Given the description of an element on the screen output the (x, y) to click on. 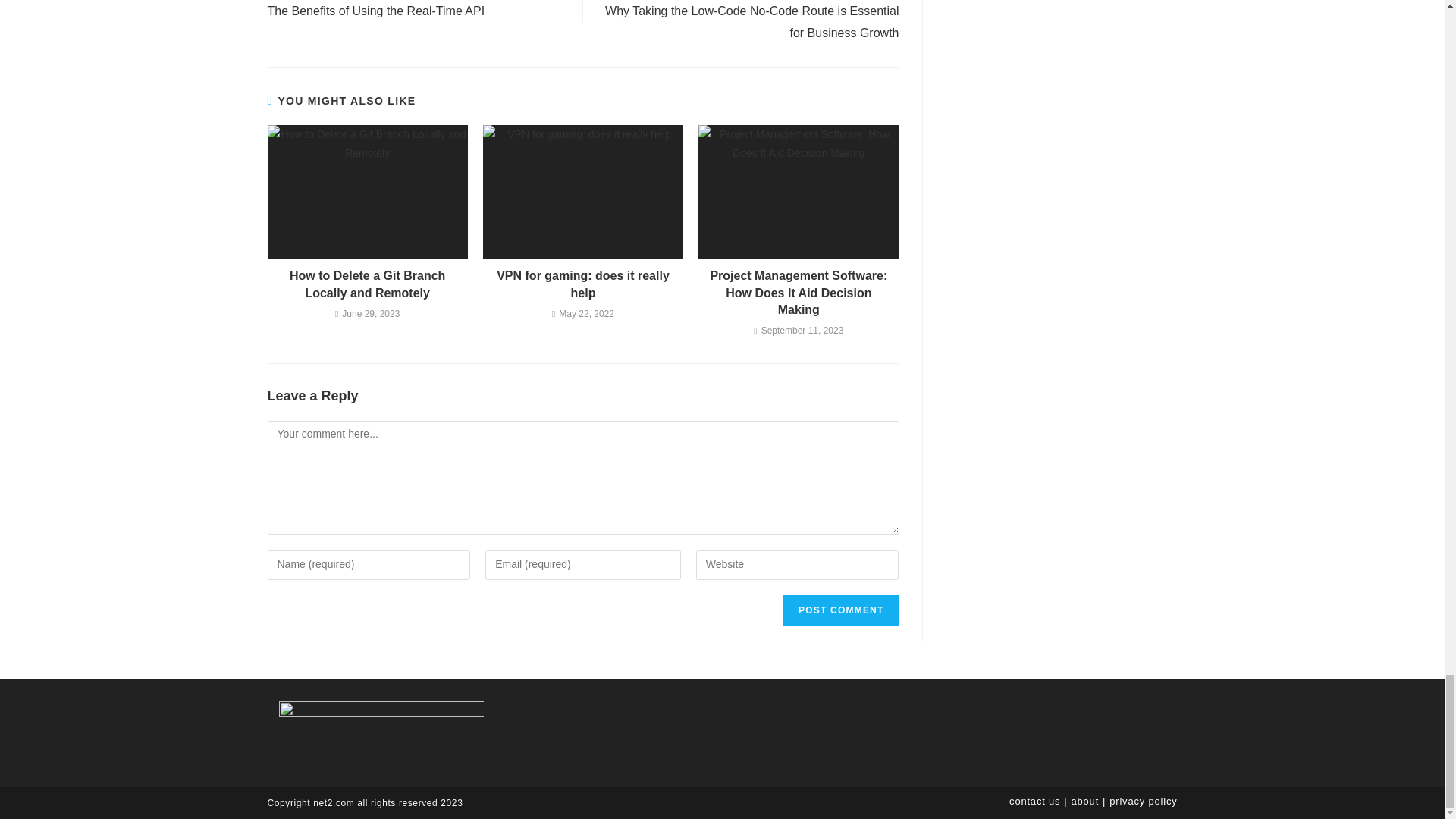
How to Delete a Git Branch Locally and Remotely (367, 284)
Project Management Software: How Does It Aid Decision Making (798, 292)
VPN for gaming: does it really help (583, 284)
Post Comment (840, 610)
